Given the description of an element on the screen output the (x, y) to click on. 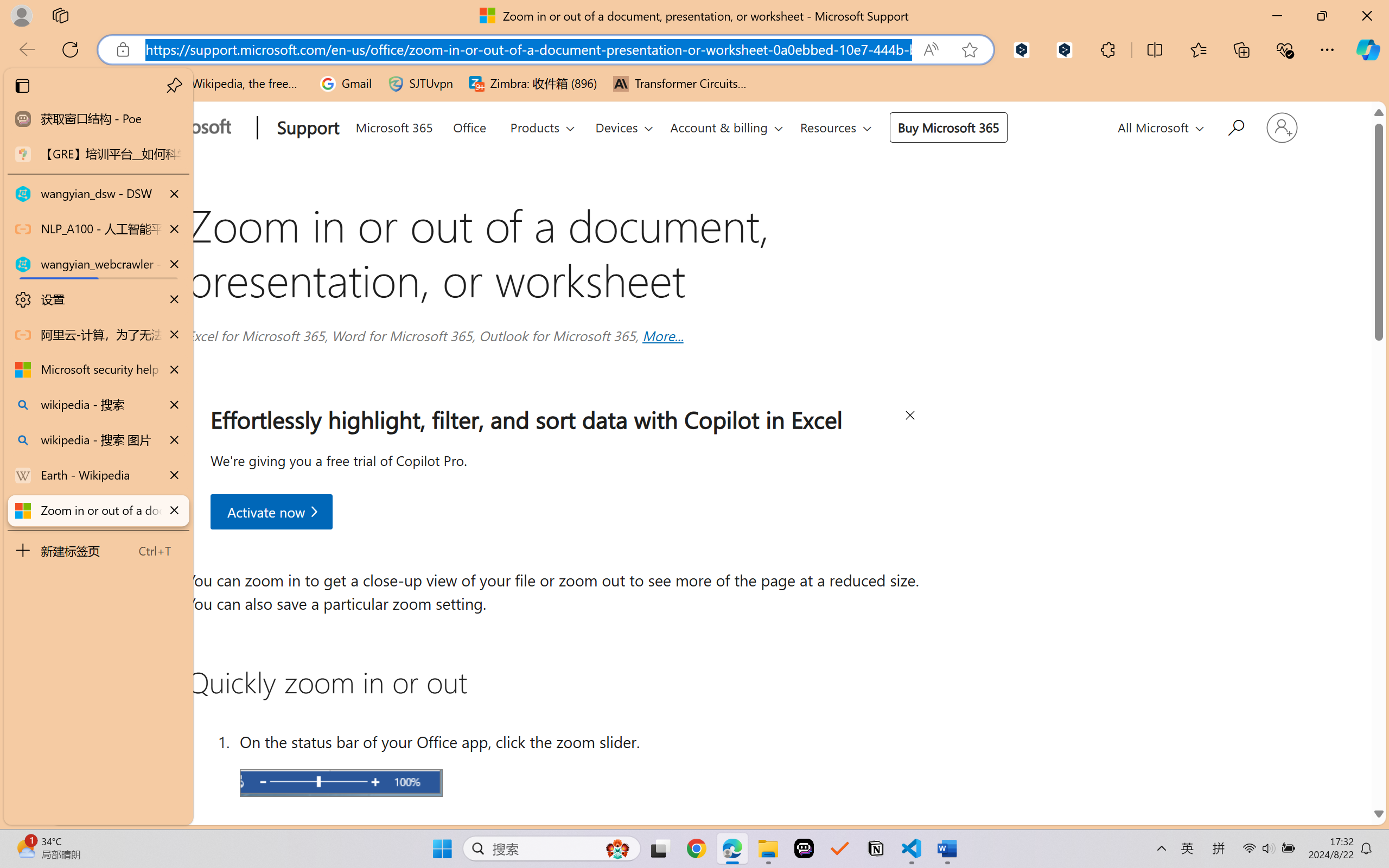
Gmail (345, 83)
Wikipedia, the free encyclopedia (236, 83)
Support (305, 128)
Search for help (1234, 126)
Microsoft (182, 128)
